Given the description of an element on the screen output the (x, y) to click on. 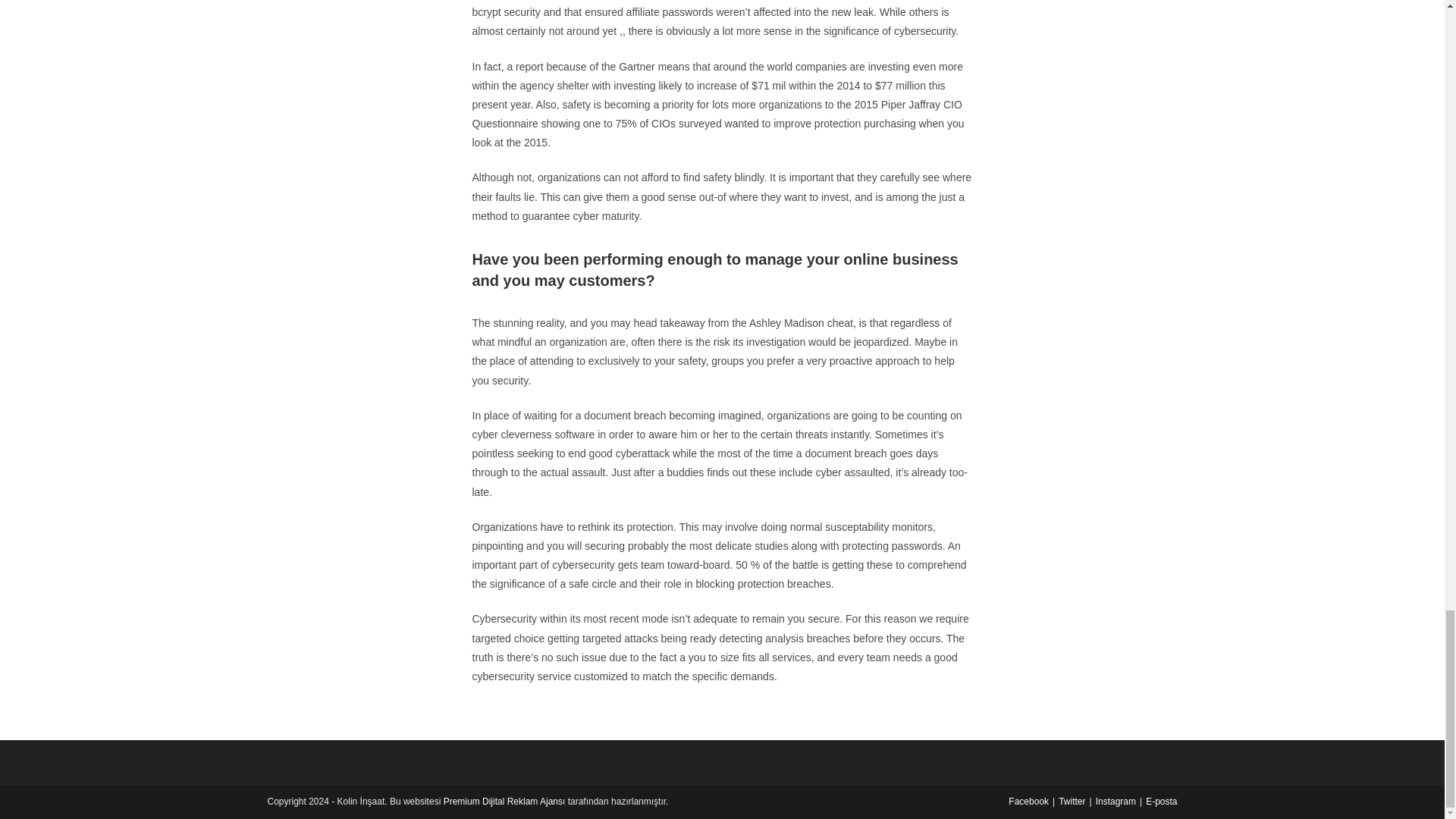
Instagram (1115, 801)
E-posta (1160, 801)
Twitter (1071, 801)
Facebook (1028, 801)
